Given the description of an element on the screen output the (x, y) to click on. 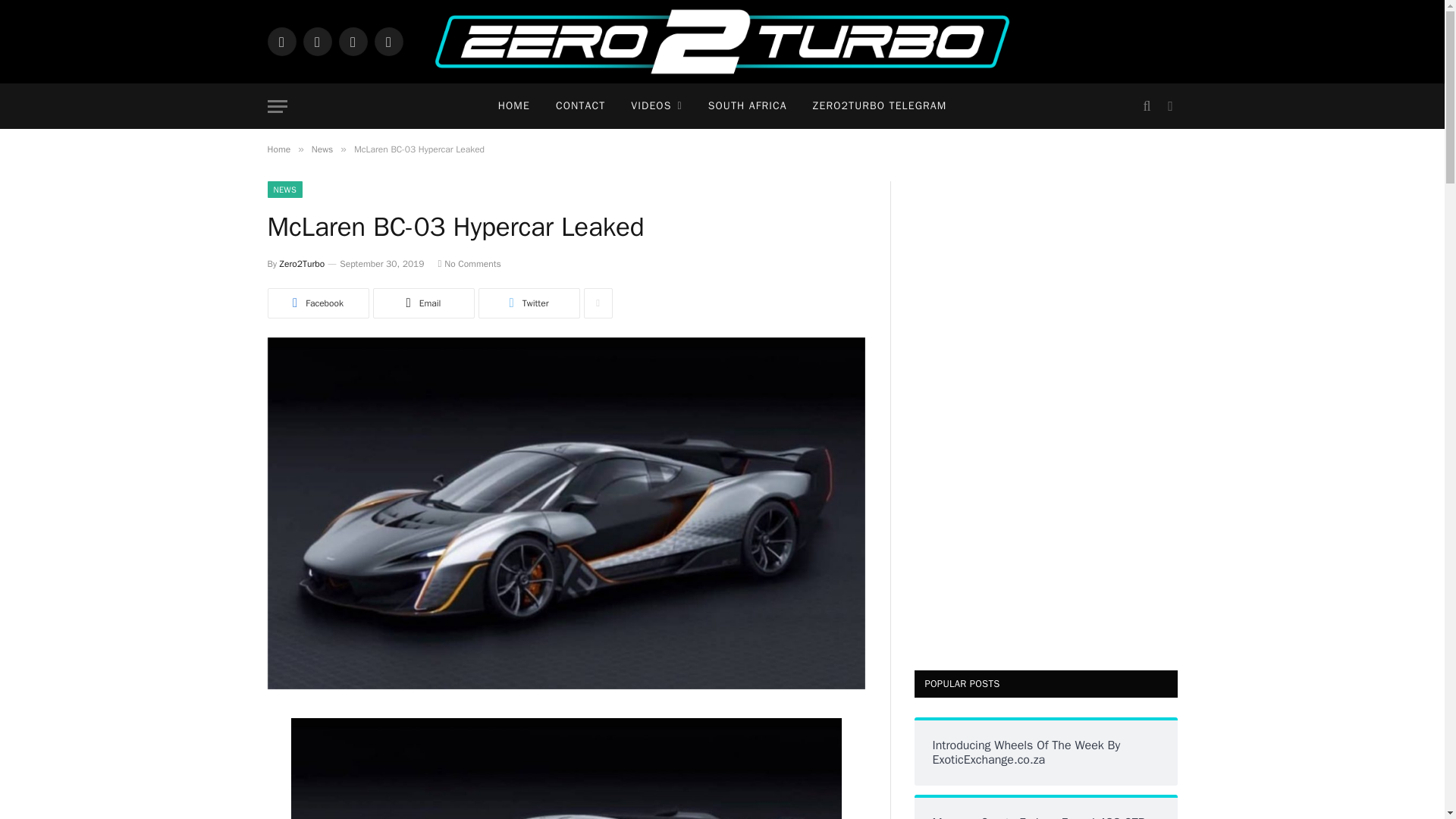
RSS (388, 41)
NEWS (284, 189)
Zero2Turbo (301, 263)
No Comments (469, 263)
HOME (513, 105)
Switch to Dark Design - easier on eyes. (1168, 106)
News (322, 149)
SOUTH AFRICA (747, 105)
Zero2Turbo (722, 41)
ZERO2TURBO TELEGRAM (879, 105)
